Given the description of an element on the screen output the (x, y) to click on. 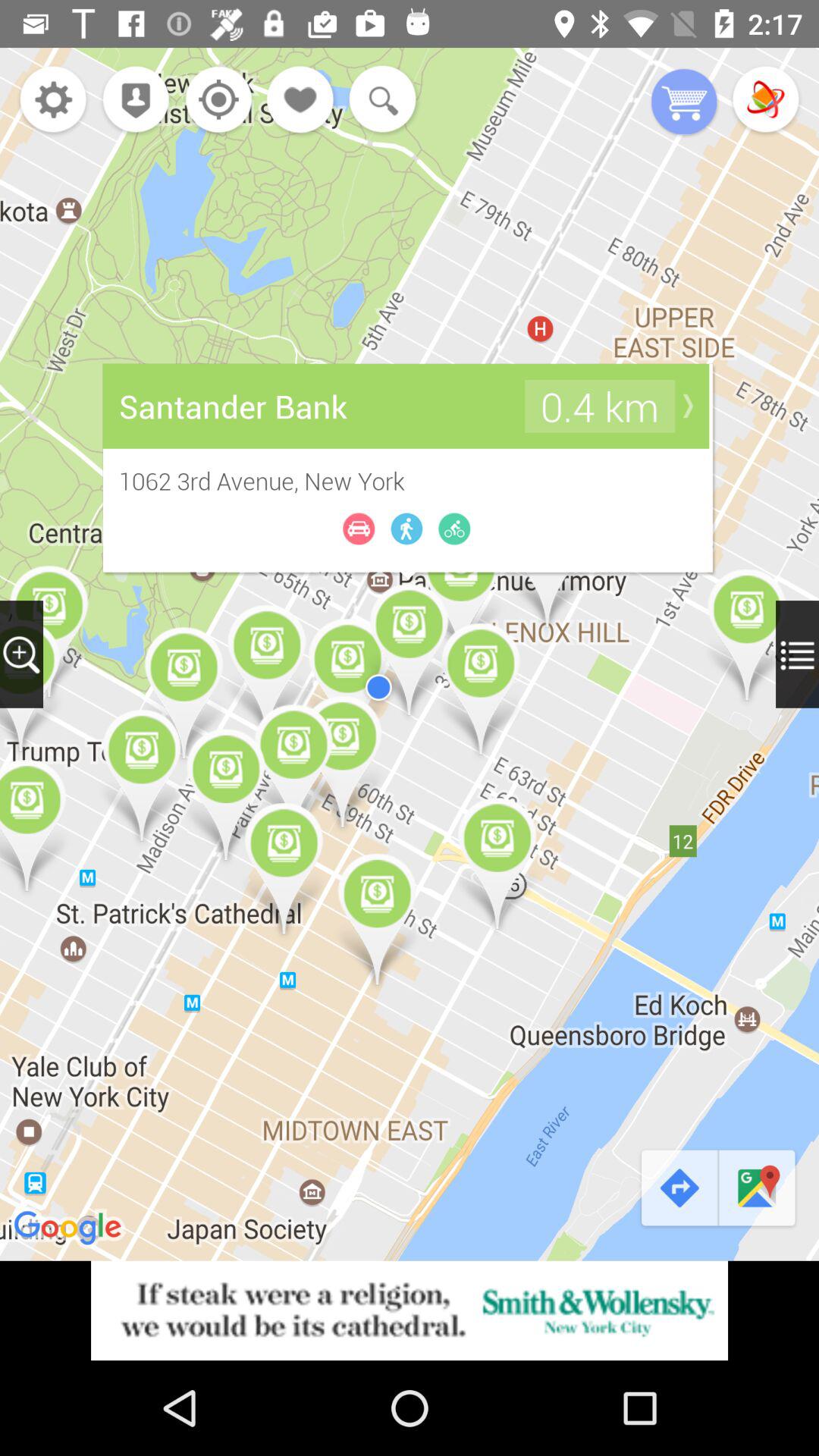
view advertisement (409, 1310)
